Given the description of an element on the screen output the (x, y) to click on. 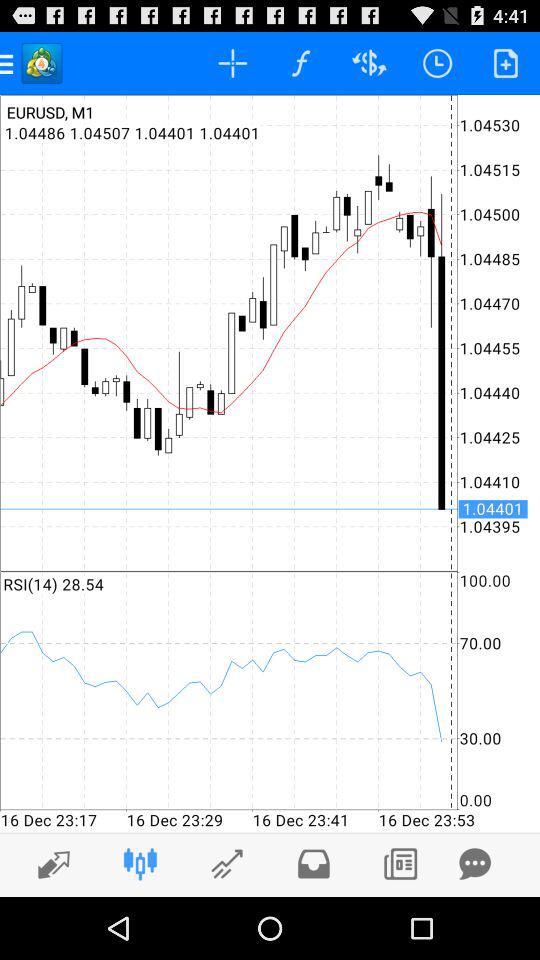
open chat box (475, 864)
